Given the description of an element on the screen output the (x, y) to click on. 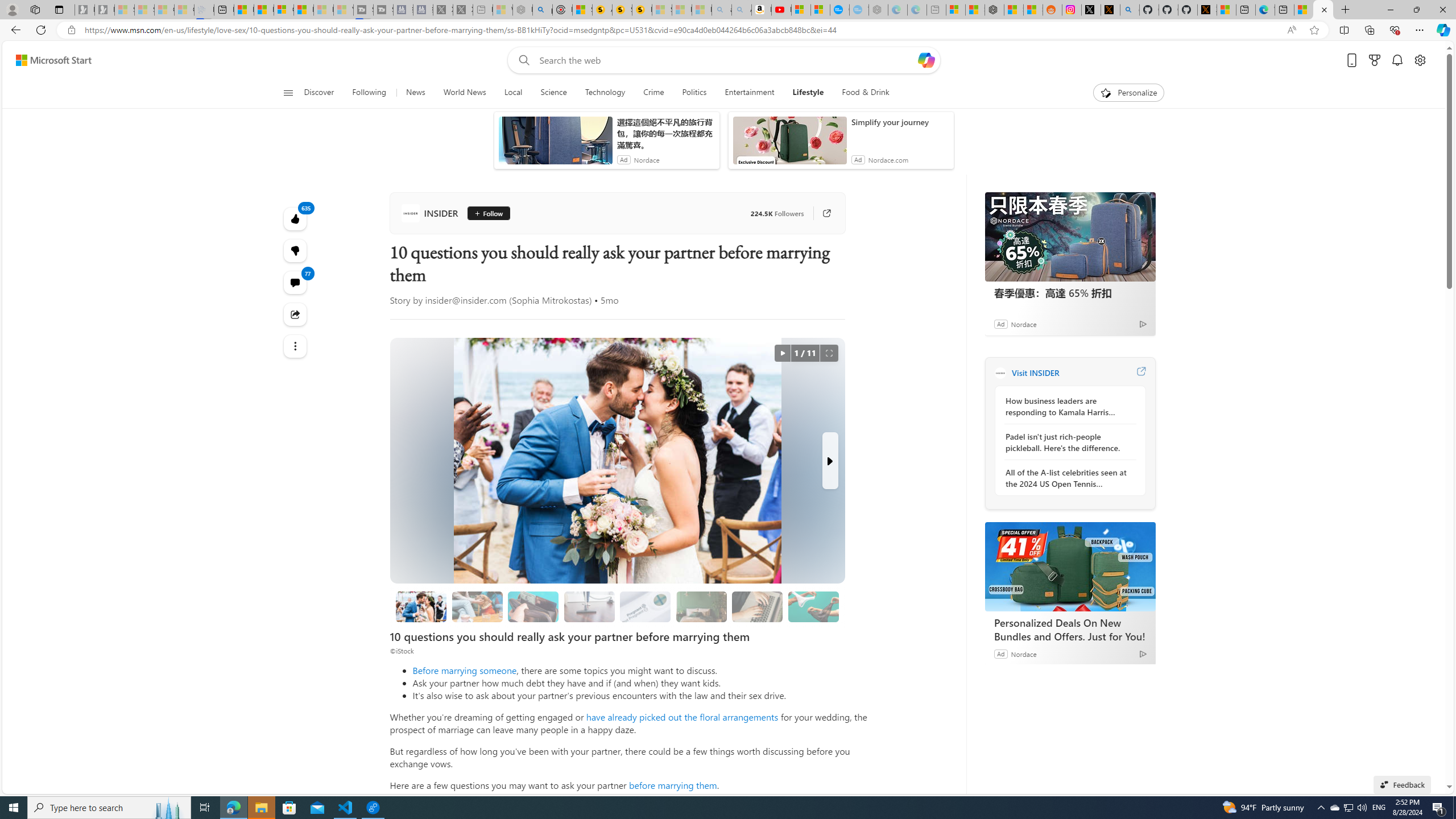
Simplify your journey (899, 121)
autorotate button (782, 352)
How important is sex to you? (813, 606)
Personalized Deals On New Bundles and Offers. Just for You! (1070, 566)
INSIDER (1000, 372)
Technology (605, 92)
Michelle Starr, Senior Journalist at ScienceAlert (641, 9)
Open settings (1420, 60)
Open navigation menu (287, 92)
